Given the description of an element on the screen output the (x, y) to click on. 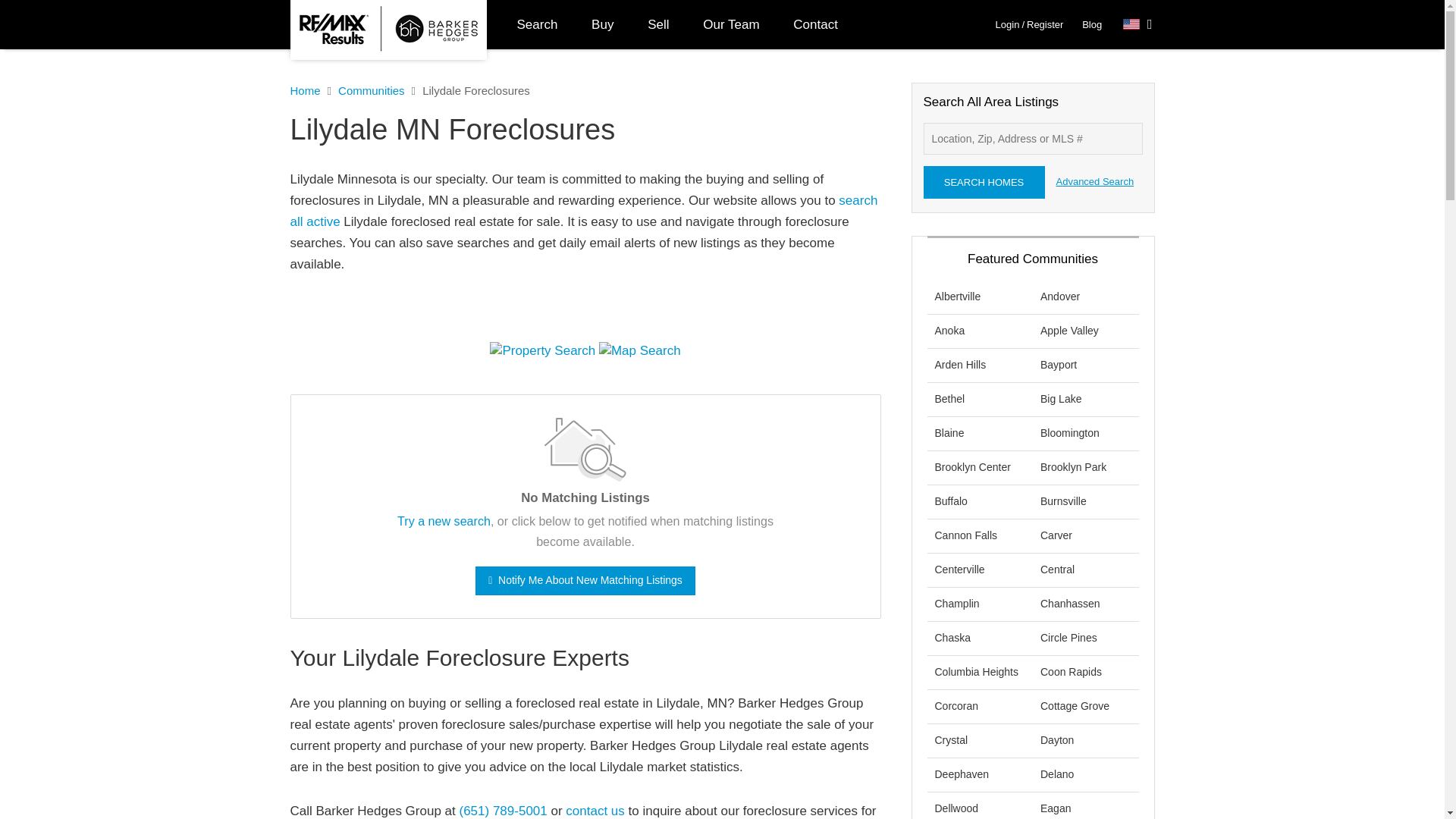
Register (1044, 24)
Lilydale Foreclosures for Sale (583, 211)
Search (537, 24)
Sell (657, 24)
Buy (602, 24)
Lilydale MN Foreclosures (584, 130)
Lilydale Map Search (639, 351)
Select Language (1137, 24)
Blog (1091, 24)
Lilydale Property Search (542, 351)
